Given the description of an element on the screen output the (x, y) to click on. 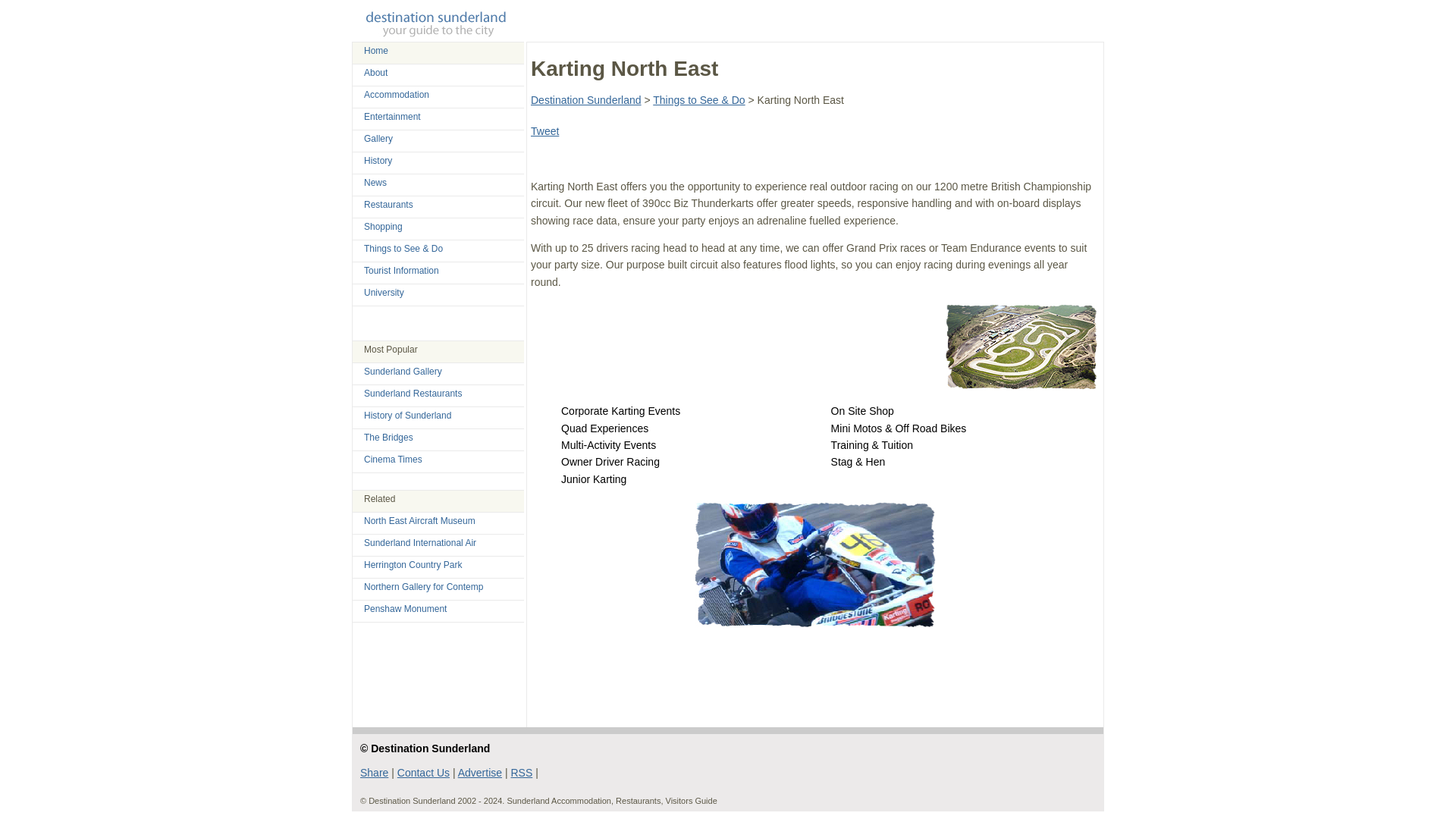
Destination Sunderland (586, 100)
Penshaw Monument (405, 608)
Cinema Times (393, 459)
Accommodation (396, 94)
Sunderland International Airshow (420, 542)
Penshaw Monument (405, 608)
Shopping (383, 226)
North East Aircraft Museum (420, 520)
Northern Gallery for Contemp (423, 586)
History of Sunderland (407, 415)
Home (376, 50)
Gallery (378, 138)
News (375, 182)
History (377, 160)
About (375, 72)
